Given the description of an element on the screen output the (x, y) to click on. 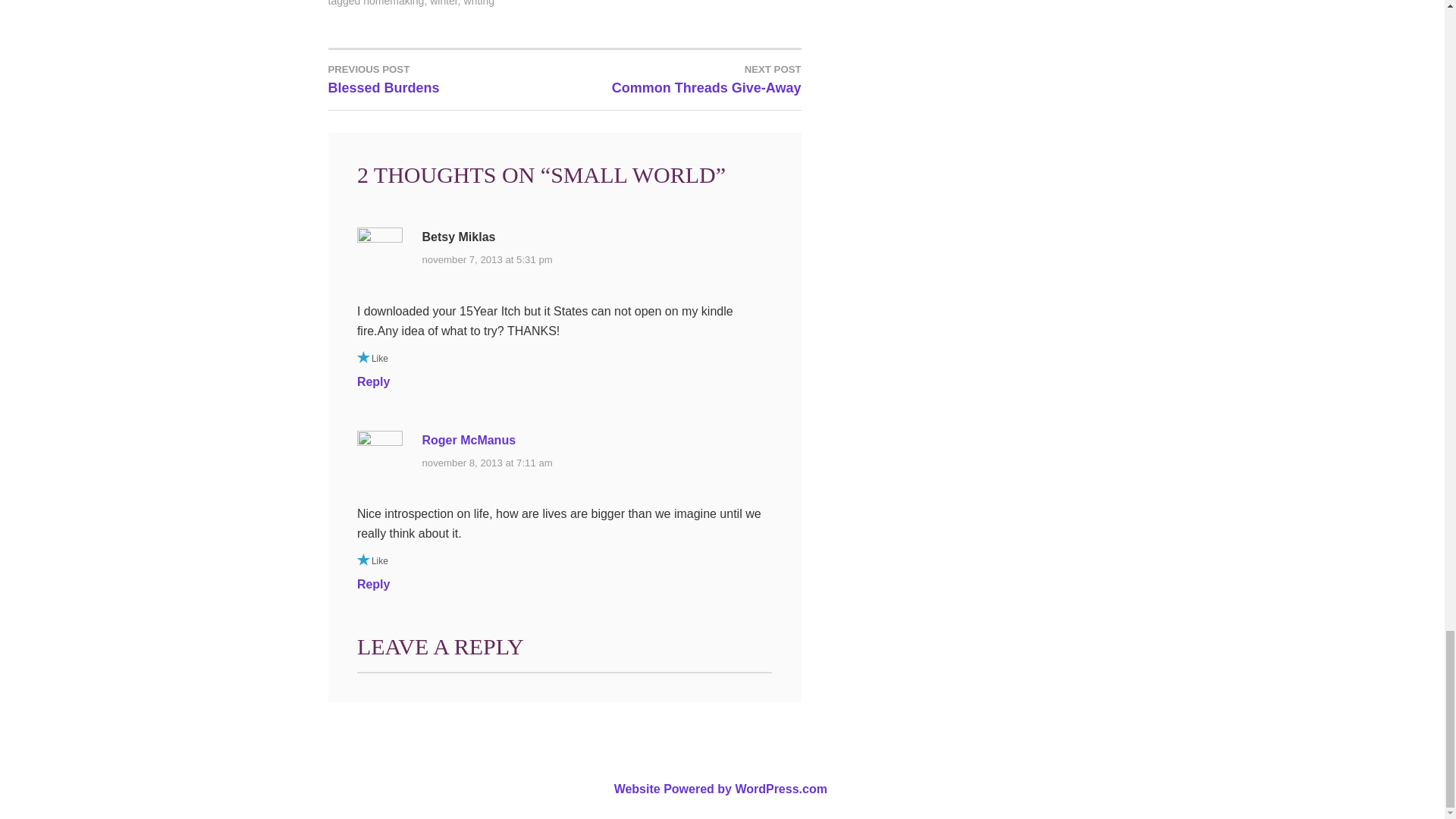
homemaking (392, 3)
winter (443, 3)
november 7, 2013 at 5:31 pm (682, 78)
Roger McManus (486, 259)
Reply (468, 440)
writing (373, 381)
Reply (479, 3)
november 8, 2013 at 7:11 am (373, 584)
